Given the description of an element on the screen output the (x, y) to click on. 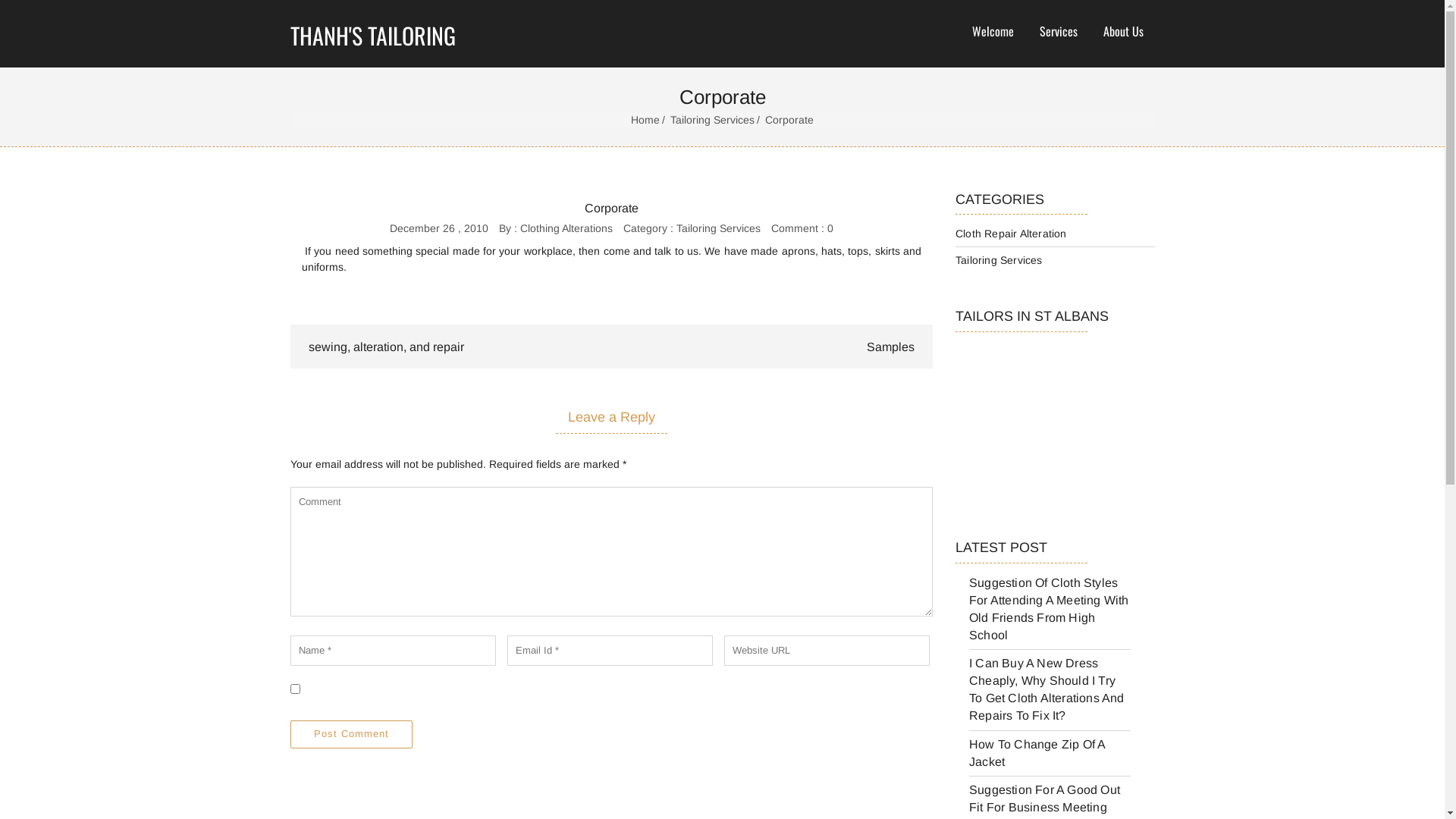
Tailoring Services Element type: text (716, 119)
Advertisement Element type: hover (1031, 434)
Corporate Element type: text (611, 208)
Services Element type: text (1057, 32)
Home Element type: text (648, 119)
Post Comment Element type: text (350, 734)
Welcome Element type: text (992, 32)
Tailoring Services Element type: text (718, 228)
THANH'S TAILORING Element type: text (397, 33)
Tailoring Services Element type: text (998, 260)
Cloth Repair Alteration Element type: text (1010, 233)
About Us Element type: text (1122, 32)
Clothing Alterations Element type: text (566, 228)
How To Change Zip Of A Jacket Element type: text (1036, 752)
Suggestion For A Good Out Fit For Business Meeting Element type: text (1044, 798)
